Given the description of an element on the screen output the (x, y) to click on. 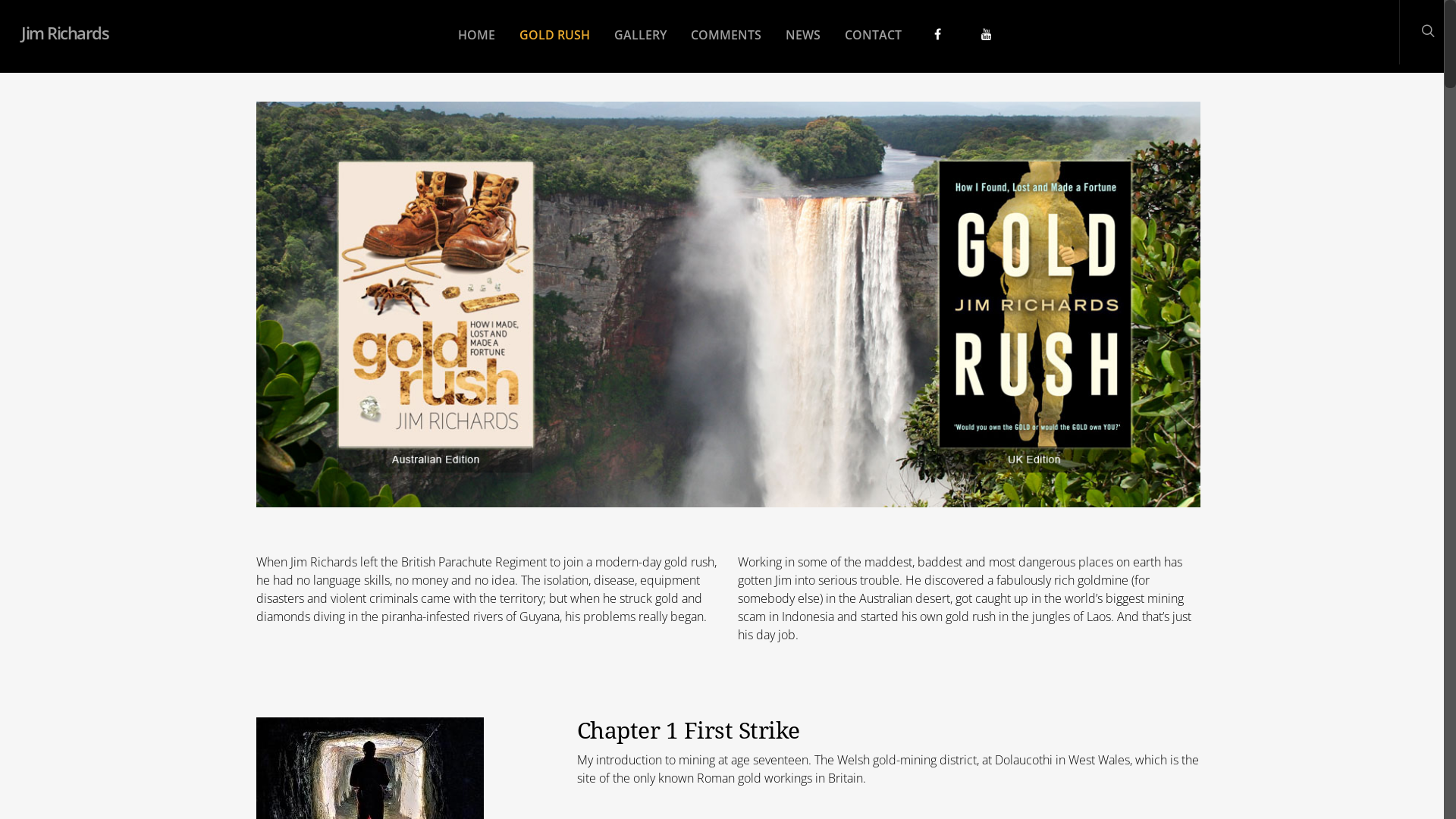
GALLERY Element type: text (639, 45)
NEWS Element type: text (802, 45)
GOLD RUSH Element type: text (554, 45)
HOME Element type: text (475, 45)
Jim Richards Element type: text (64, 32)
CONTACT Element type: text (872, 45)
COMMENTS Element type: text (725, 45)
